Given the description of an element on the screen output the (x, y) to click on. 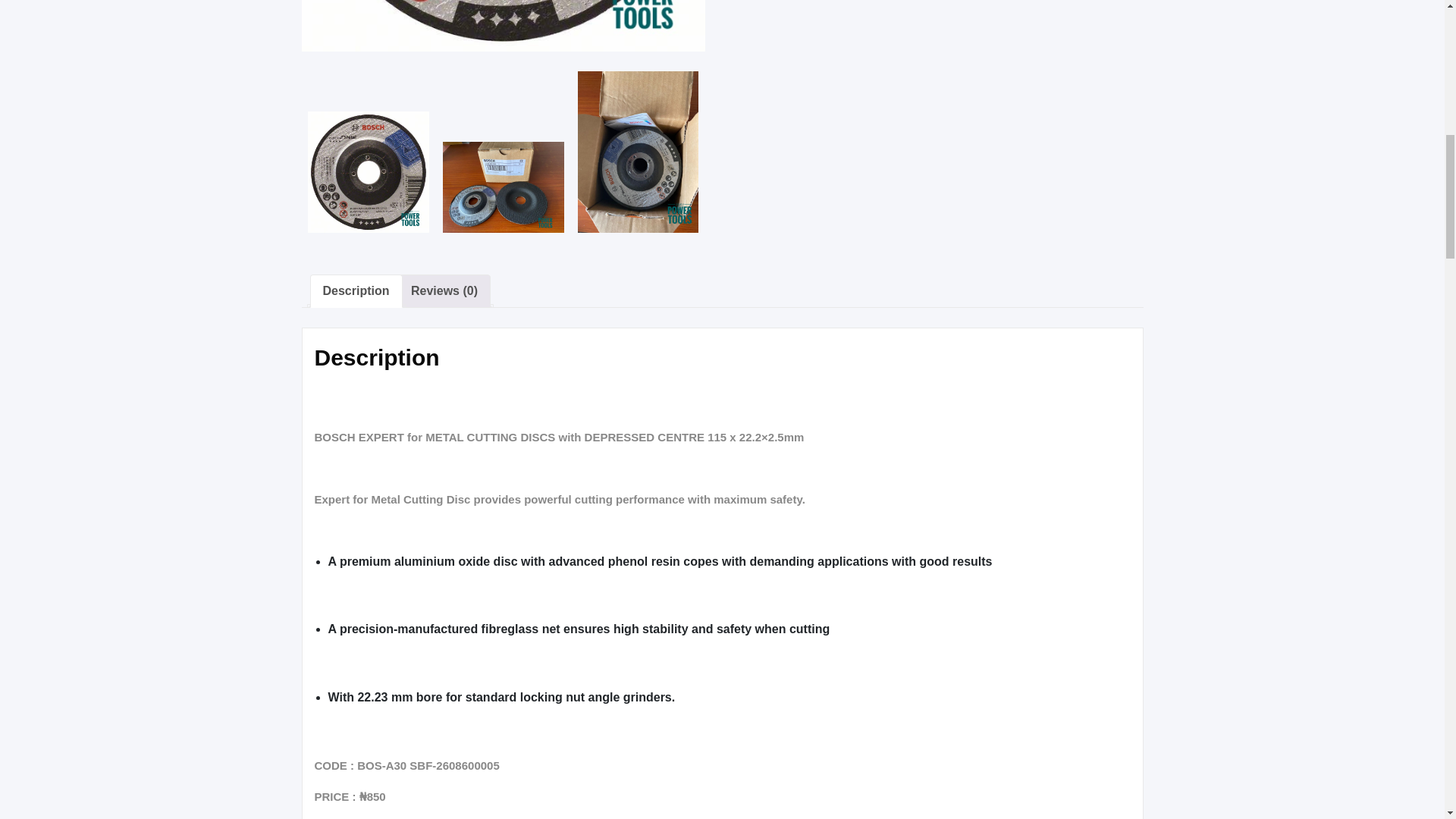
IMG-20230624-WA0013-01 (638, 151)
IMG-20230624-WA0010-01 (503, 186)
